Given the description of an element on the screen output the (x, y) to click on. 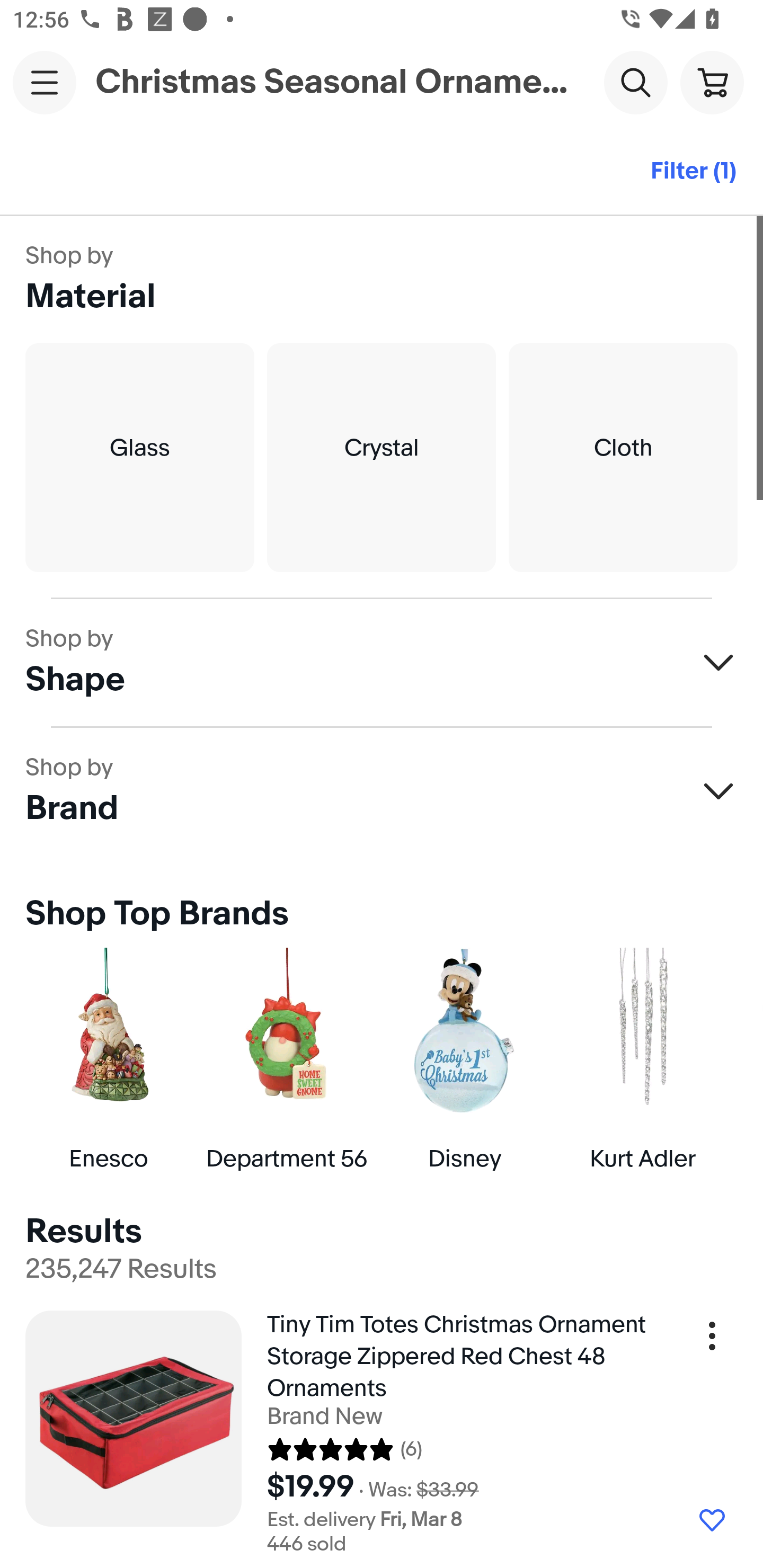
Main navigation, open (44, 82)
Search (635, 81)
Cart button shopping cart (711, 81)
Filter (1) (693, 171)
Glass (139, 457)
Crystal (381, 457)
Cloth (622, 457)
Shop by Shape (381, 661)
Shop by Brand (381, 790)
Enesco (107, 1059)
Department 56 (285, 1059)
Disney (464, 1059)
Kurt Adler (641, 1059)
More options (711, 1341)
